Given the description of an element on the screen output the (x, y) to click on. 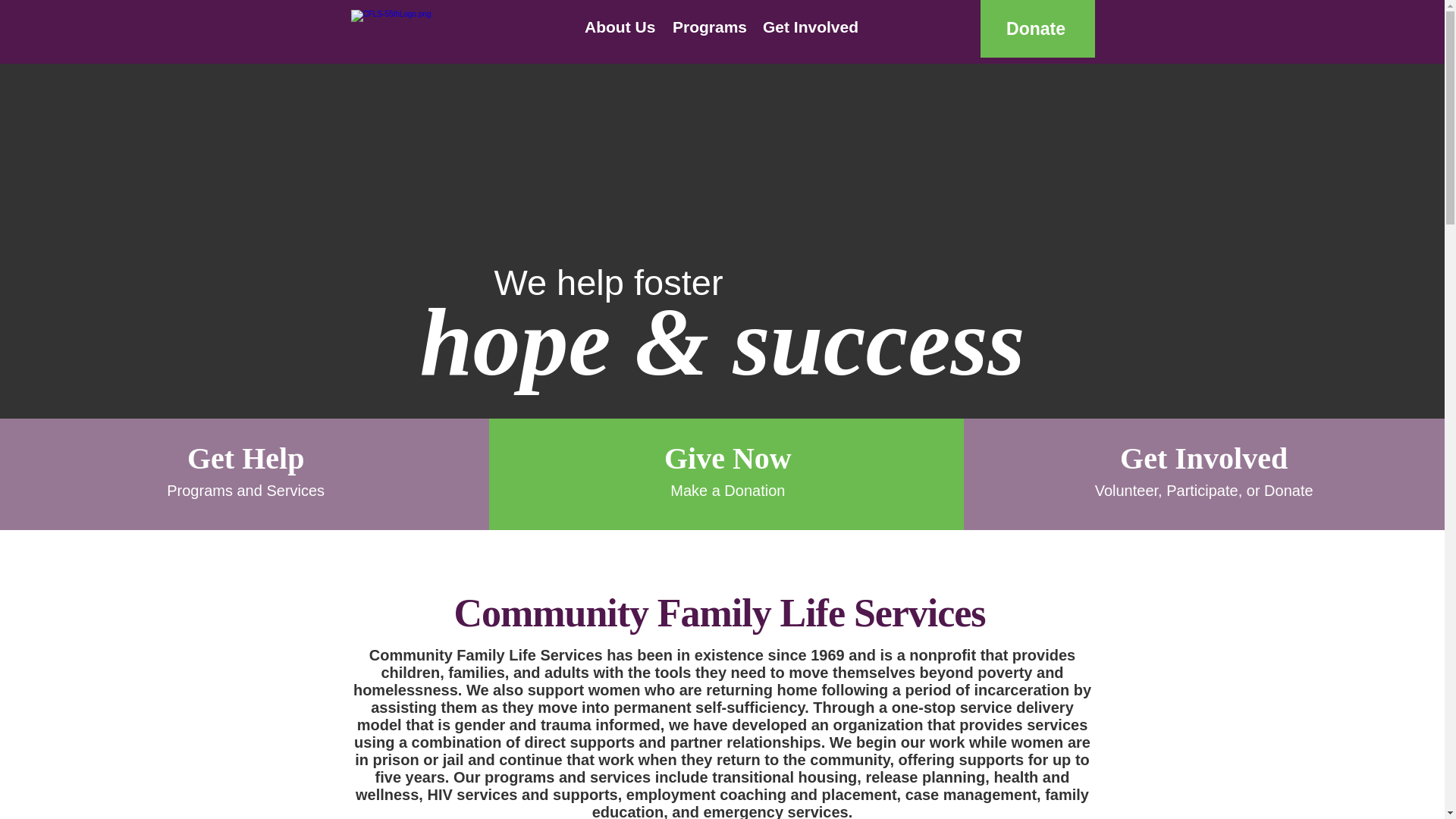
Get Involved (807, 25)
Get Help (245, 458)
About Us (617, 25)
Get Involved (1203, 458)
Donate (1036, 28)
Give Now (727, 458)
Programs (706, 25)
